Given the description of an element on the screen output the (x, y) to click on. 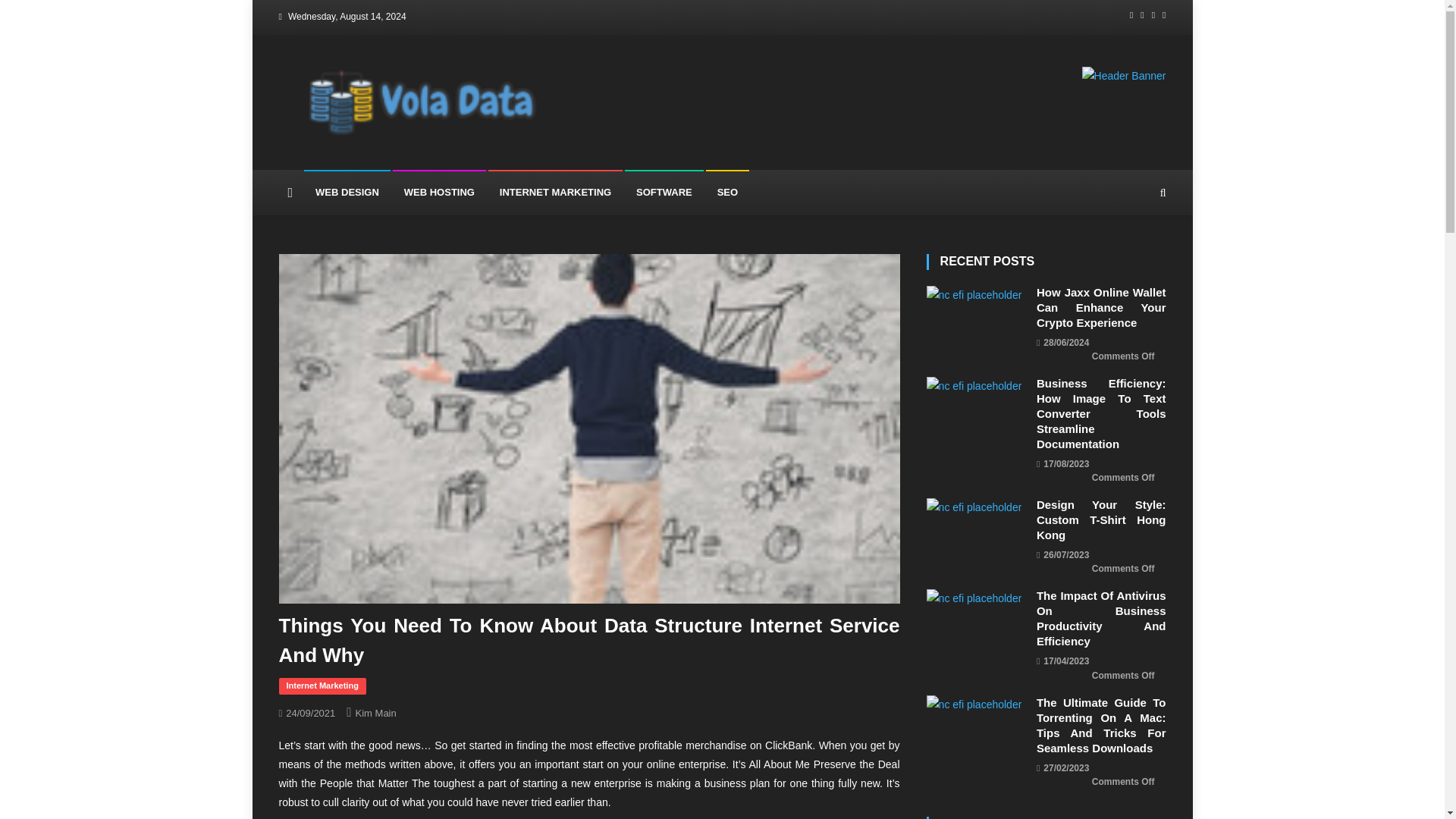
WEB HOSTING (439, 192)
WEB DESIGN (347, 192)
Vola Data (401, 154)
Internet Marketing (322, 686)
Design Your Style: Custom T-Shirt Hong Kong (974, 506)
SOFTWARE (663, 192)
Search (1133, 274)
How Jaxx Online Wallet Can Enhance Your Crypto Experience (1101, 307)
